Given the description of an element on the screen output the (x, y) to click on. 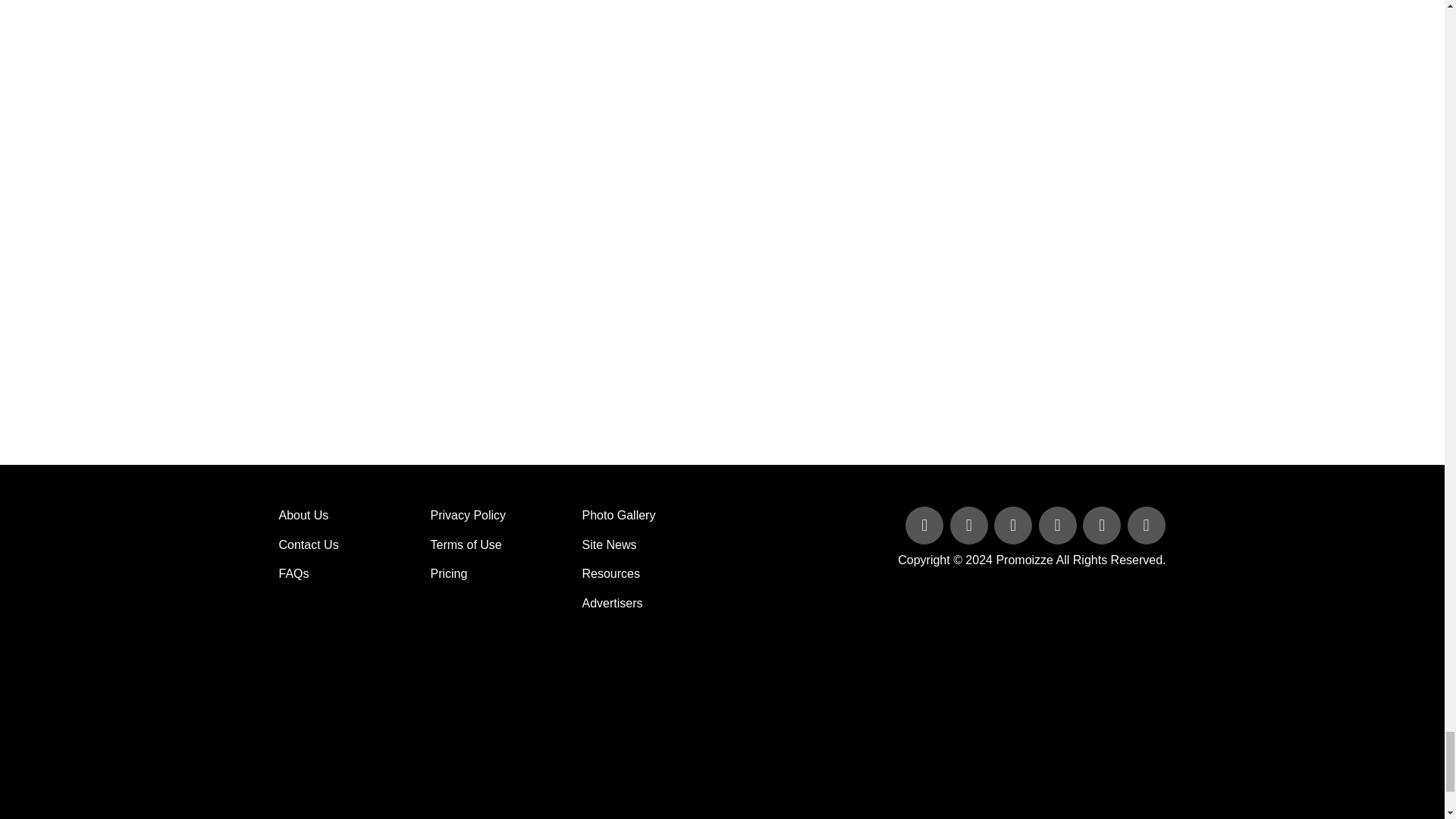
Follow Us on You Tube (1058, 526)
Follow Us on Instagram (1145, 526)
Follow Us on Linked In (1014, 526)
Follow Us on Twitter (970, 526)
Follow Us on Facebook (925, 526)
Follow Us on Pinterest (1103, 526)
